Given the description of an element on the screen output the (x, y) to click on. 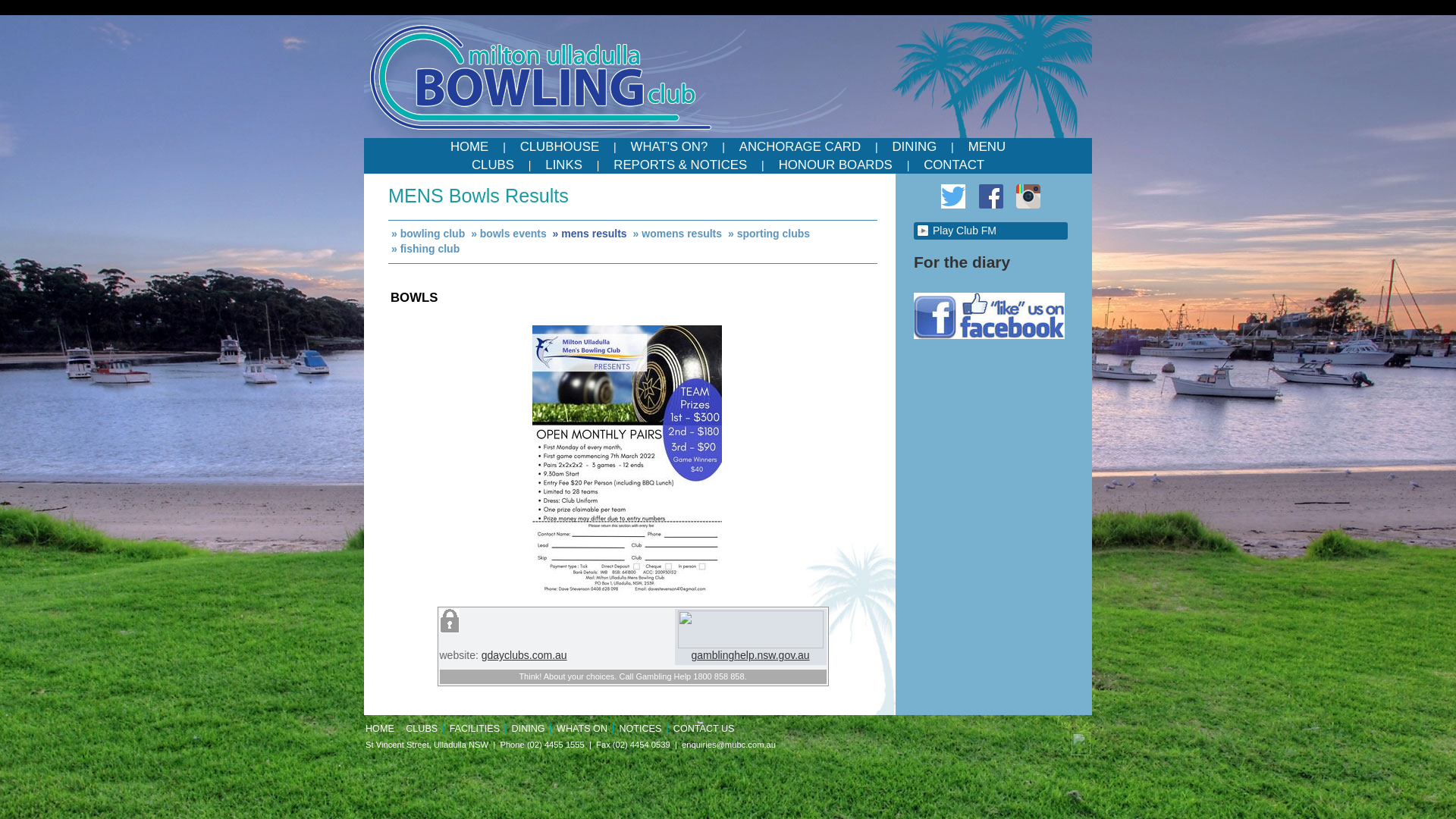
WHAT'S ON? Element type: text (669, 146)
enquiries@mubc.com.au Element type: text (728, 744)
CONTACT US Element type: text (703, 728)
WHATS ON Element type: text (581, 728)
CLUBHOUSE Element type: text (559, 146)
MENU Element type: text (986, 146)
CONTACT Element type: text (953, 164)
Play Club FM Element type: text (990, 230)
CLUBS Element type: text (421, 728)
REPORTS & NOTICES Element type: text (680, 164)
FACILITIES Element type: text (475, 728)
HONOUR BOARDS Element type: text (835, 164)
HOME Element type: text (379, 728)
DINING Element type: text (914, 146)
CLUBS Element type: text (492, 164)
HOME Element type: text (469, 146)
gamblinghelp.nsw.gov.au Element type: text (750, 649)
LINKS Element type: text (563, 164)
DINING Element type: text (528, 728)
gdayclubs.com.au Element type: text (524, 655)
NOTICES Element type: text (639, 728)
ANCHORAGE CARD Element type: text (800, 146)
